Given the description of an element on the screen output the (x, y) to click on. 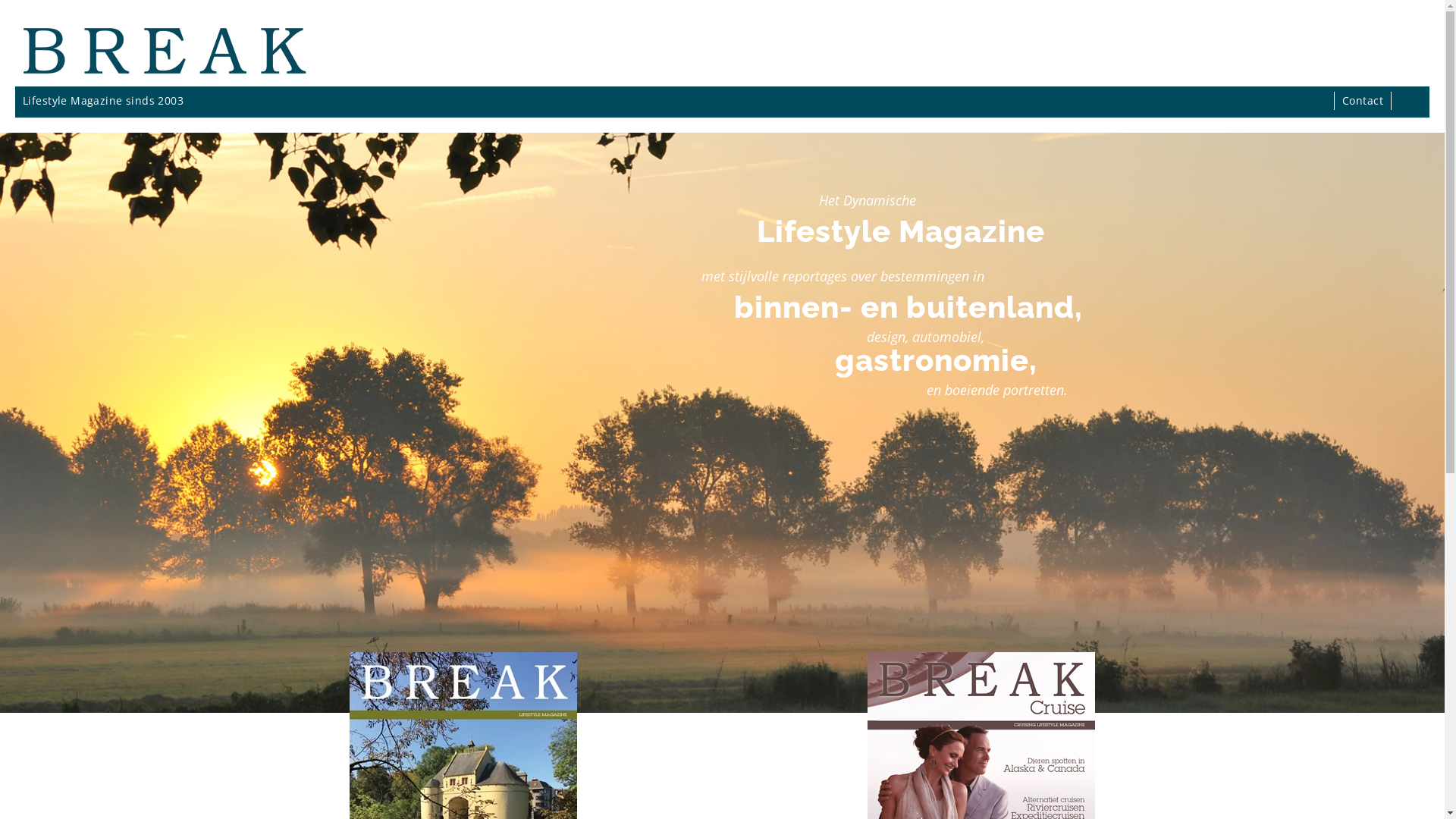
Contact Element type: text (1362, 100)
